Given the description of an element on the screen output the (x, y) to click on. 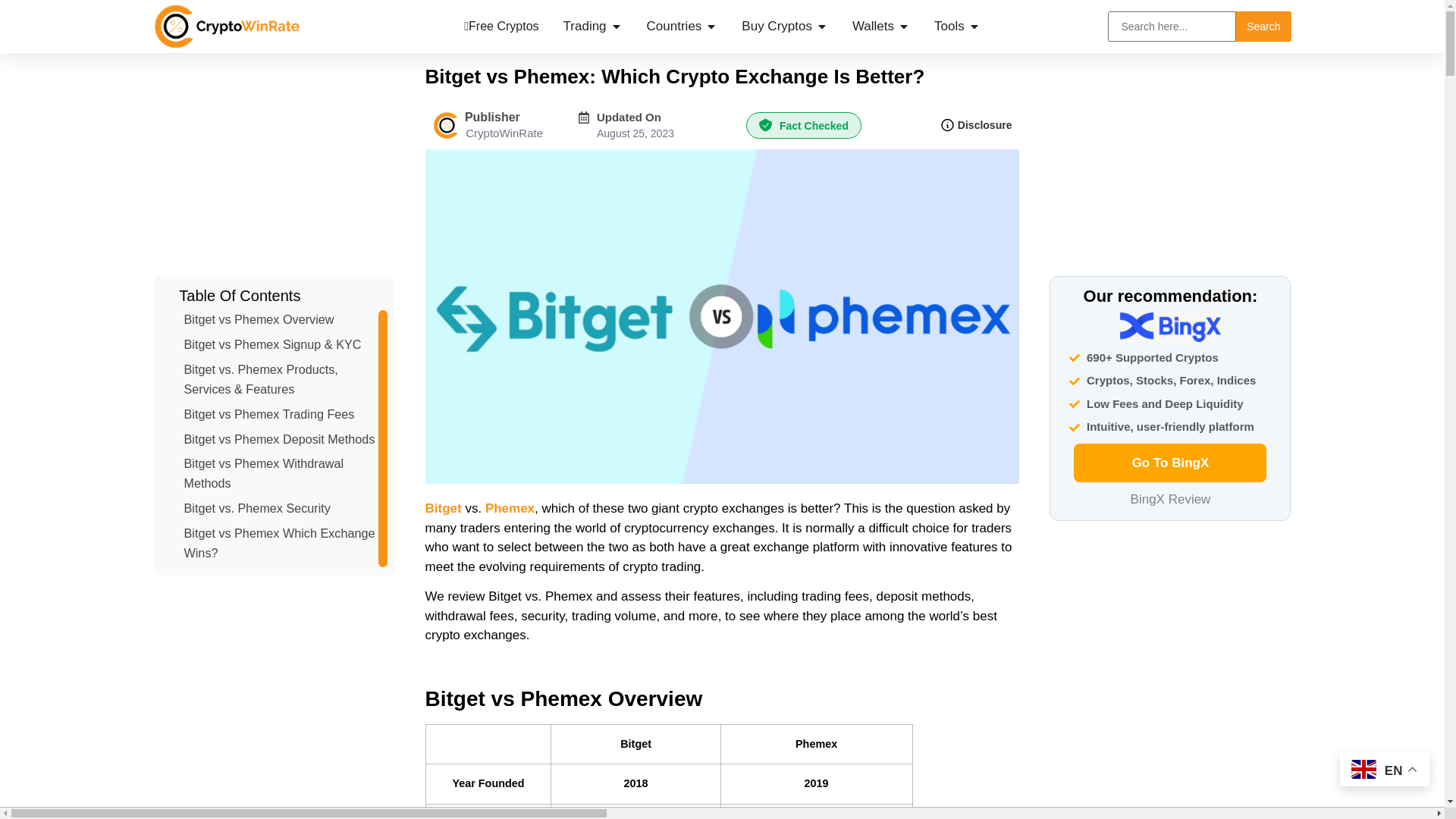
Bitget vs Phemex Deposit Methods (278, 438)
Bitget vs Phemex Which Exchange Wins? (280, 543)
Search (1263, 26)
Bitget vs Phemex Overview (258, 320)
Bitget vs Phemex Trading Fees (268, 414)
Search (1263, 26)
Bitget vs Phemex Withdrawal Methods (280, 473)
Bitget vs. Phemex Security (256, 508)
